Given the description of an element on the screen output the (x, y) to click on. 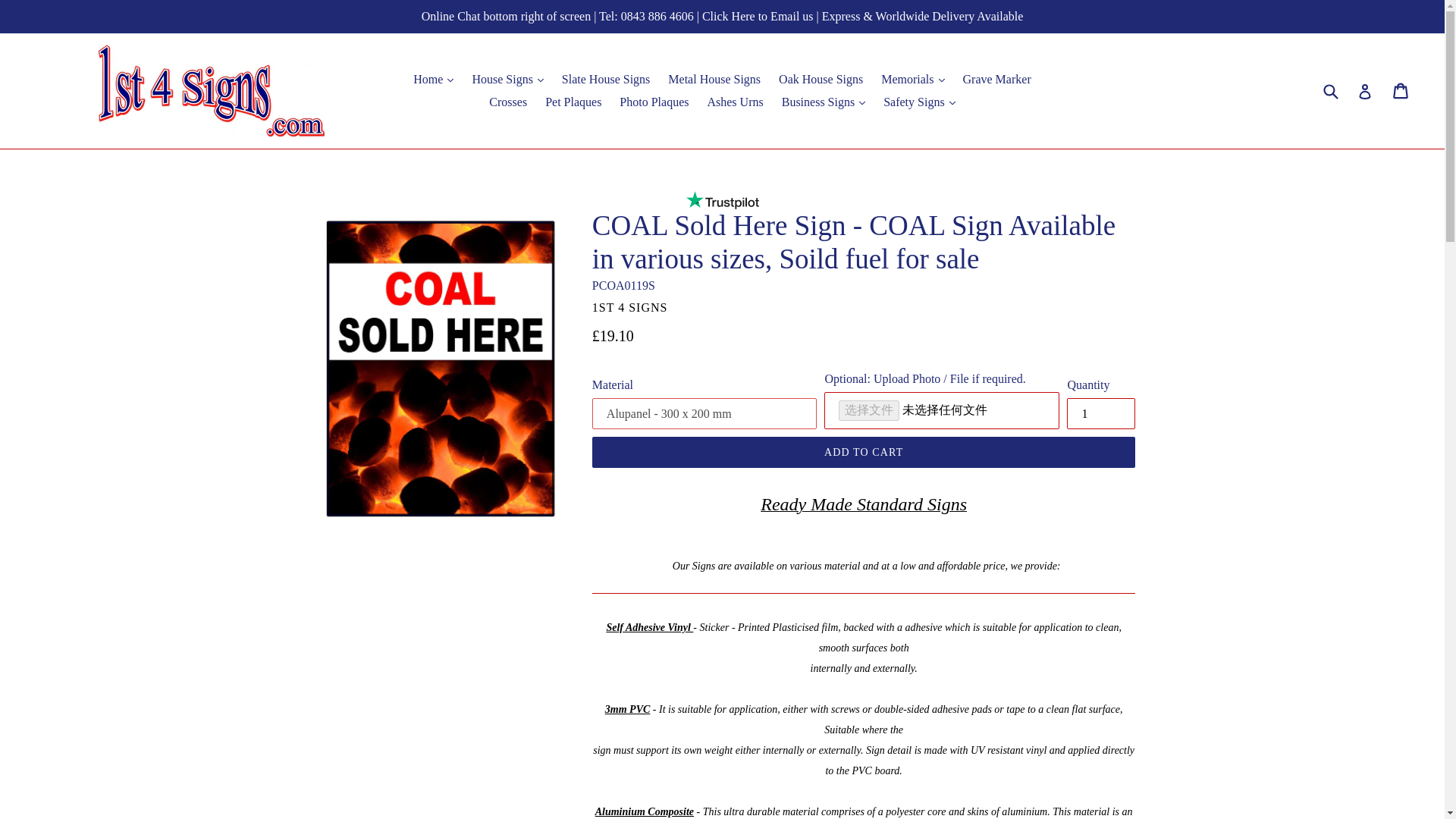
Customer reviews powered by Trustpilot (721, 199)
1 (1101, 413)
